Given the description of an element on the screen output the (x, y) to click on. 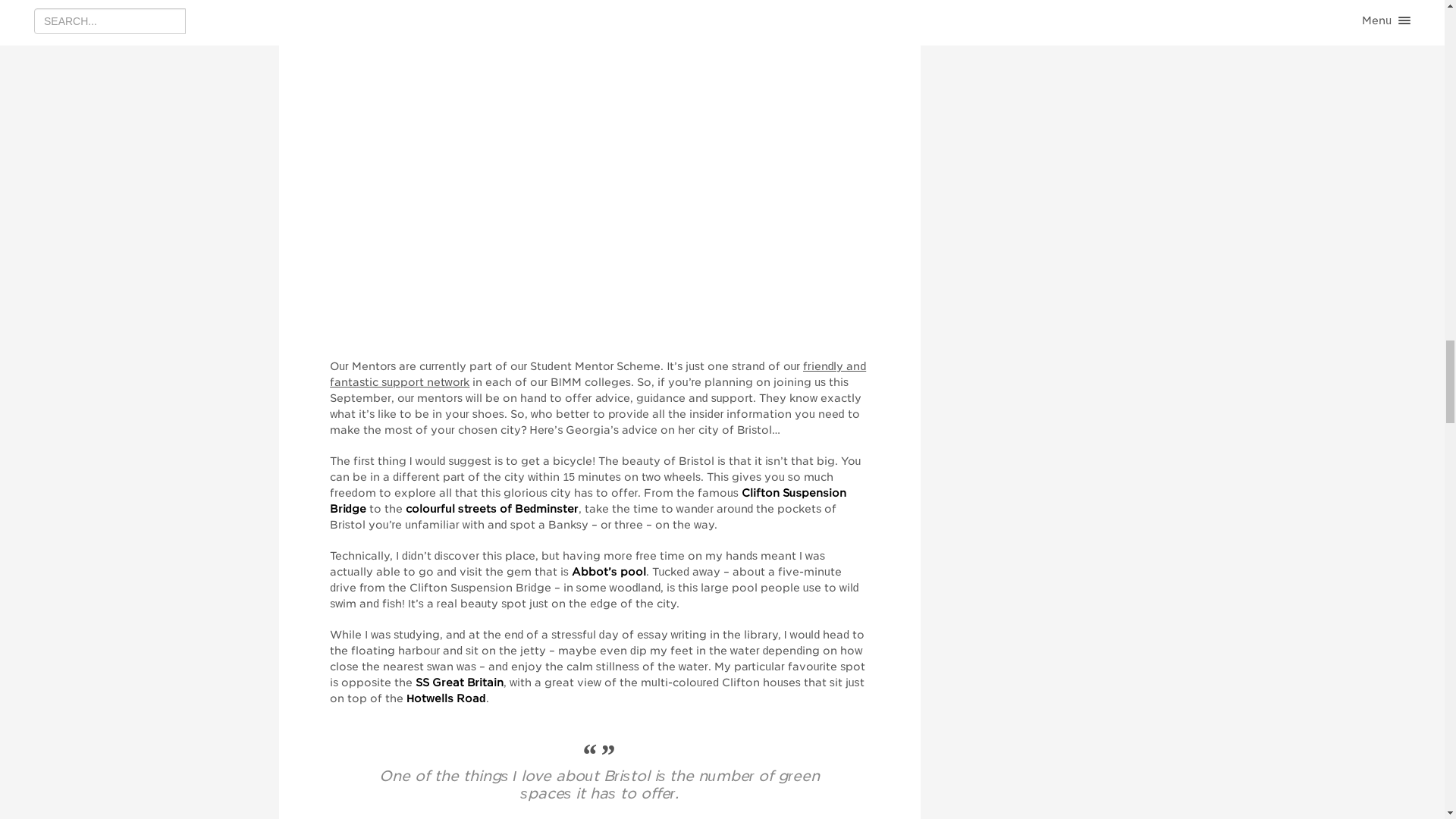
friendly and fantastic support network (598, 374)
